Given the description of an element on the screen output the (x, y) to click on. 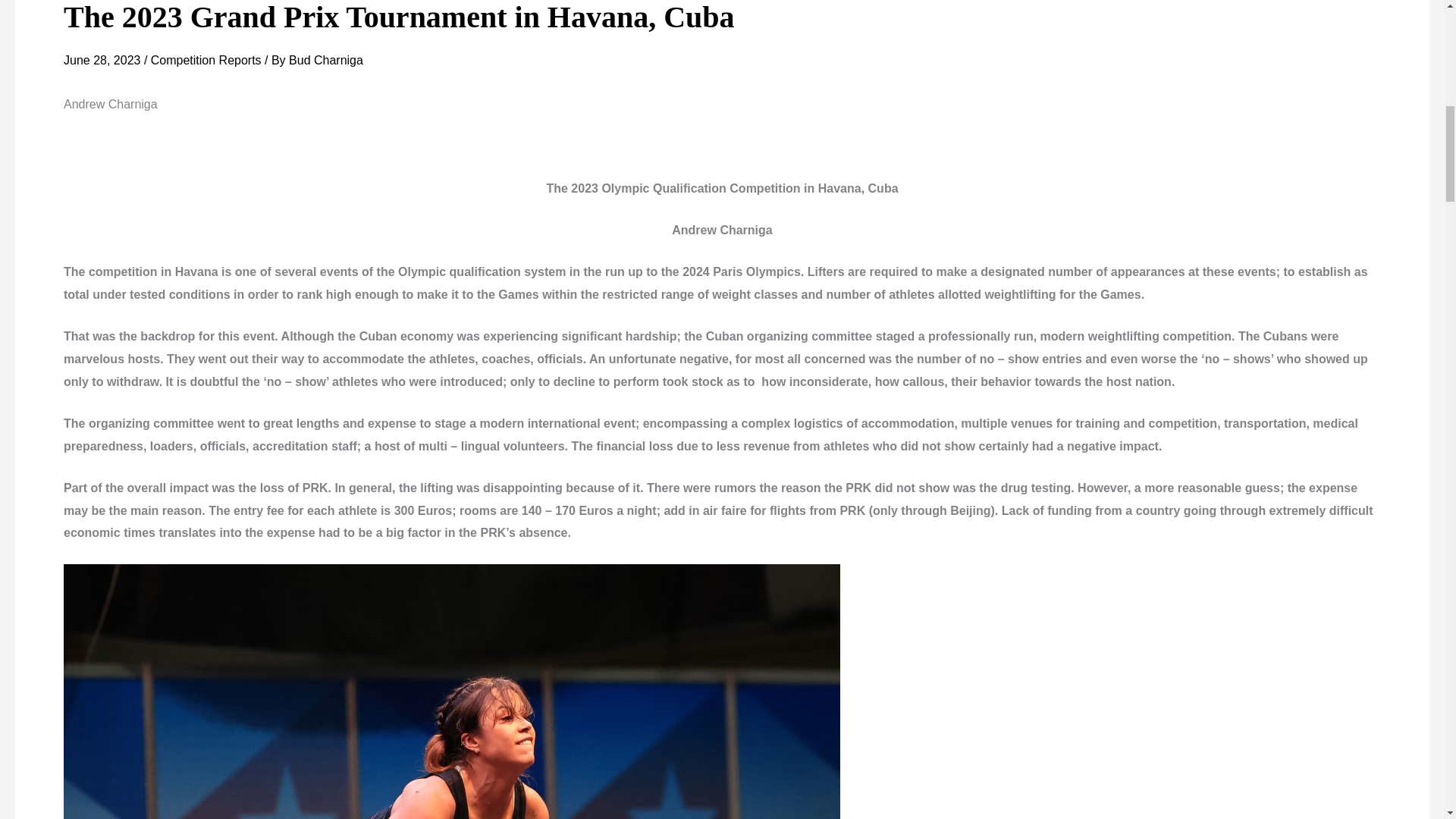
Bud Charniga (325, 60)
View all posts by Bud Charniga (325, 60)
Competition Reports (206, 60)
